Given the description of an element on the screen output the (x, y) to click on. 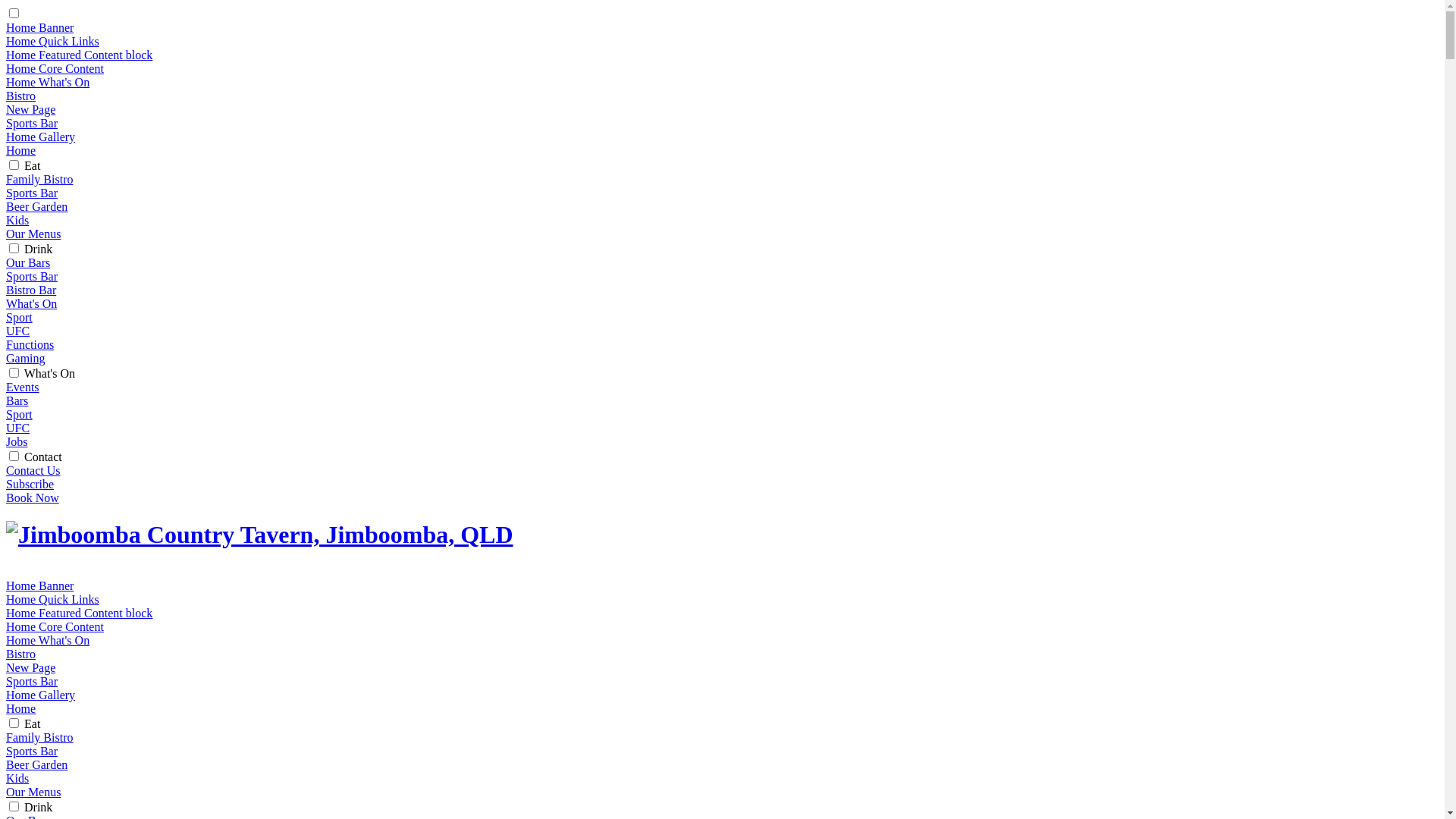
Home Gallery Element type: text (40, 136)
Contact Us Element type: text (33, 470)
Sport Element type: text (19, 316)
Home Banner Element type: text (39, 585)
Sports Bar Element type: text (31, 275)
Sports Bar Element type: text (31, 122)
Home Banner Element type: text (39, 27)
What's On Element type: text (49, 373)
Home What's On Element type: text (47, 81)
Bistro Element type: text (20, 653)
Sports Bar Element type: text (31, 750)
Book Now Element type: text (32, 497)
Beer Garden Element type: text (36, 206)
Home Core Content Element type: text (54, 68)
Subscribe Element type: text (29, 483)
Home Element type: text (20, 150)
Eat Element type: text (32, 165)
Home Featured Content block Element type: text (79, 612)
Kids Element type: text (17, 219)
New Page Element type: text (30, 109)
Eat Element type: text (32, 723)
Events Element type: text (22, 386)
New Page Element type: text (30, 667)
Home Gallery Element type: text (40, 694)
Sports Bar Element type: text (31, 192)
Our Bars Element type: text (28, 262)
Beer Garden Element type: text (36, 764)
What's On Element type: text (31, 303)
Our Menus Element type: text (33, 233)
Jobs Element type: text (16, 441)
UFC Element type: text (17, 427)
Kids Element type: text (17, 777)
Bistro Bar Element type: text (31, 289)
Home Core Content Element type: text (54, 626)
Home Quick Links Element type: text (52, 599)
Drink Element type: text (38, 248)
Family Bistro Element type: text (39, 178)
Functions Element type: text (29, 344)
UFC Element type: text (17, 330)
Sport Element type: text (19, 413)
Contact Element type: text (43, 456)
Bars Element type: text (17, 400)
Home Featured Content block Element type: text (79, 54)
Sports Bar Element type: text (31, 680)
Our Menus Element type: text (33, 791)
Gaming Element type: text (25, 357)
Drink Element type: text (38, 806)
Family Bistro Element type: text (39, 737)
Home Element type: text (20, 708)
Bistro Element type: text (20, 95)
Home What's On Element type: text (47, 639)
Home Quick Links Element type: text (52, 40)
